Given the description of an element on the screen output the (x, y) to click on. 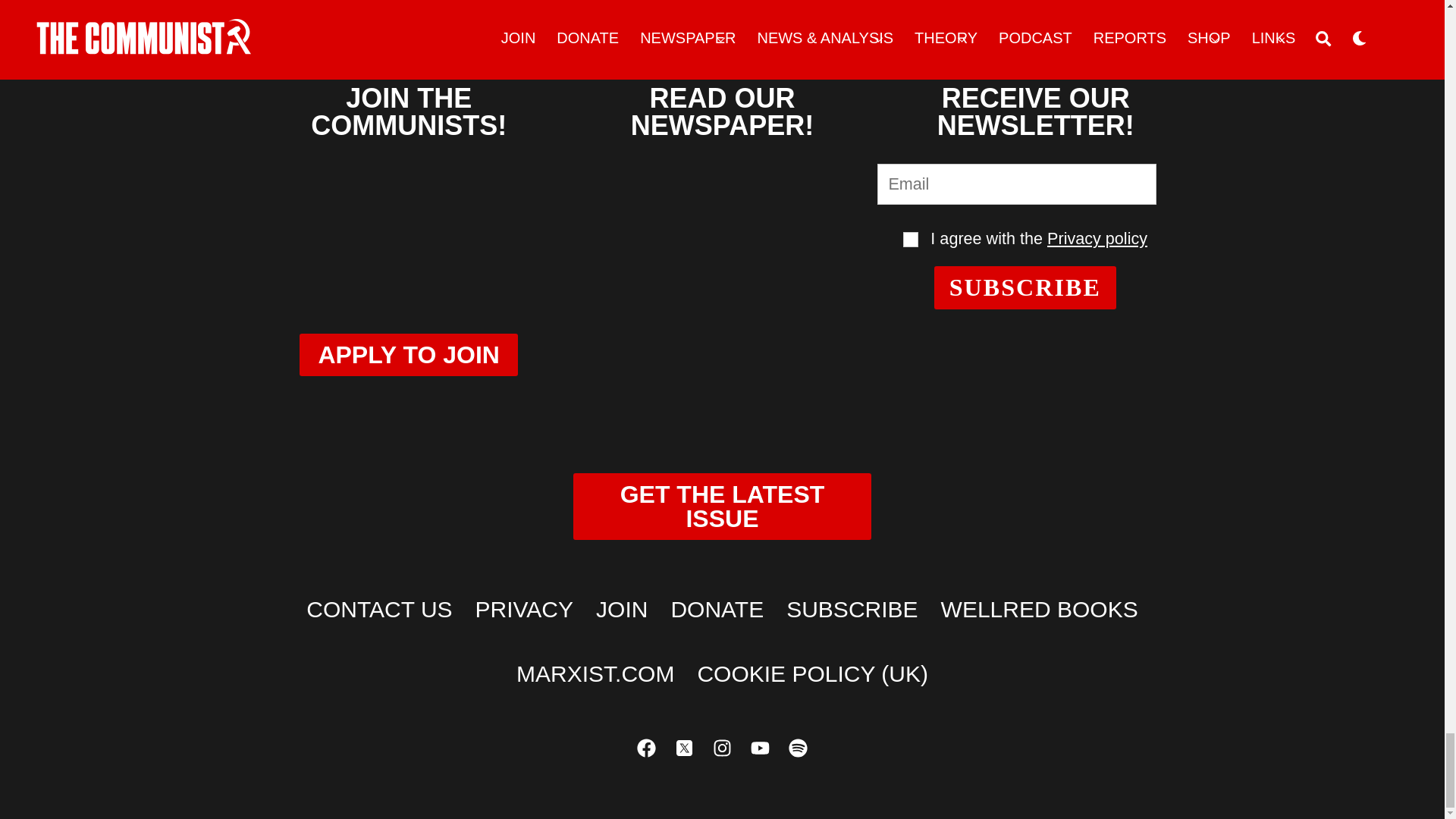
Terms and conditions (910, 239)
Privacy policy (1096, 238)
on (910, 239)
